Given the description of an element on the screen output the (x, y) to click on. 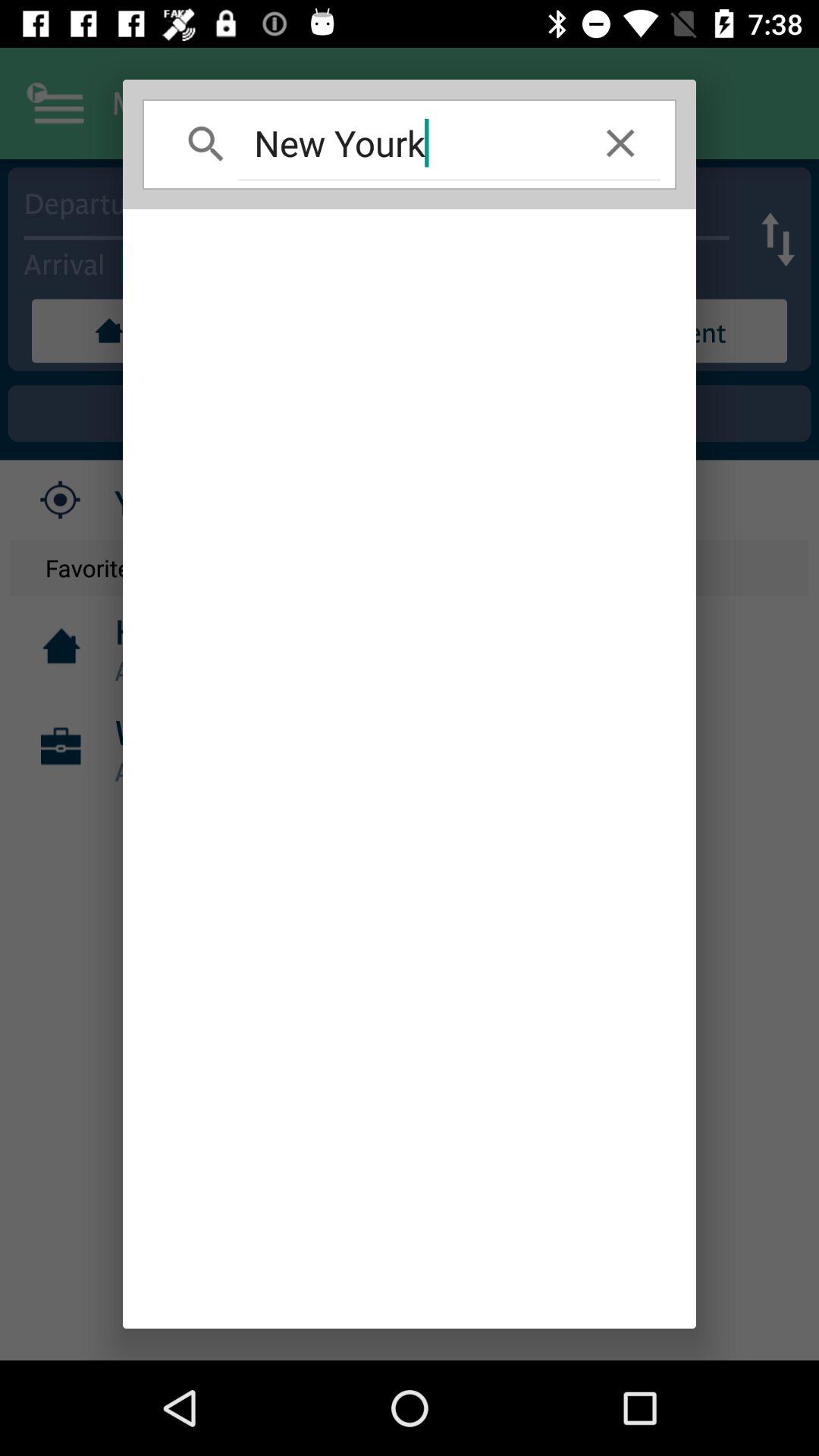
press item at the top right corner (620, 143)
